Given the description of an element on the screen output the (x, y) to click on. 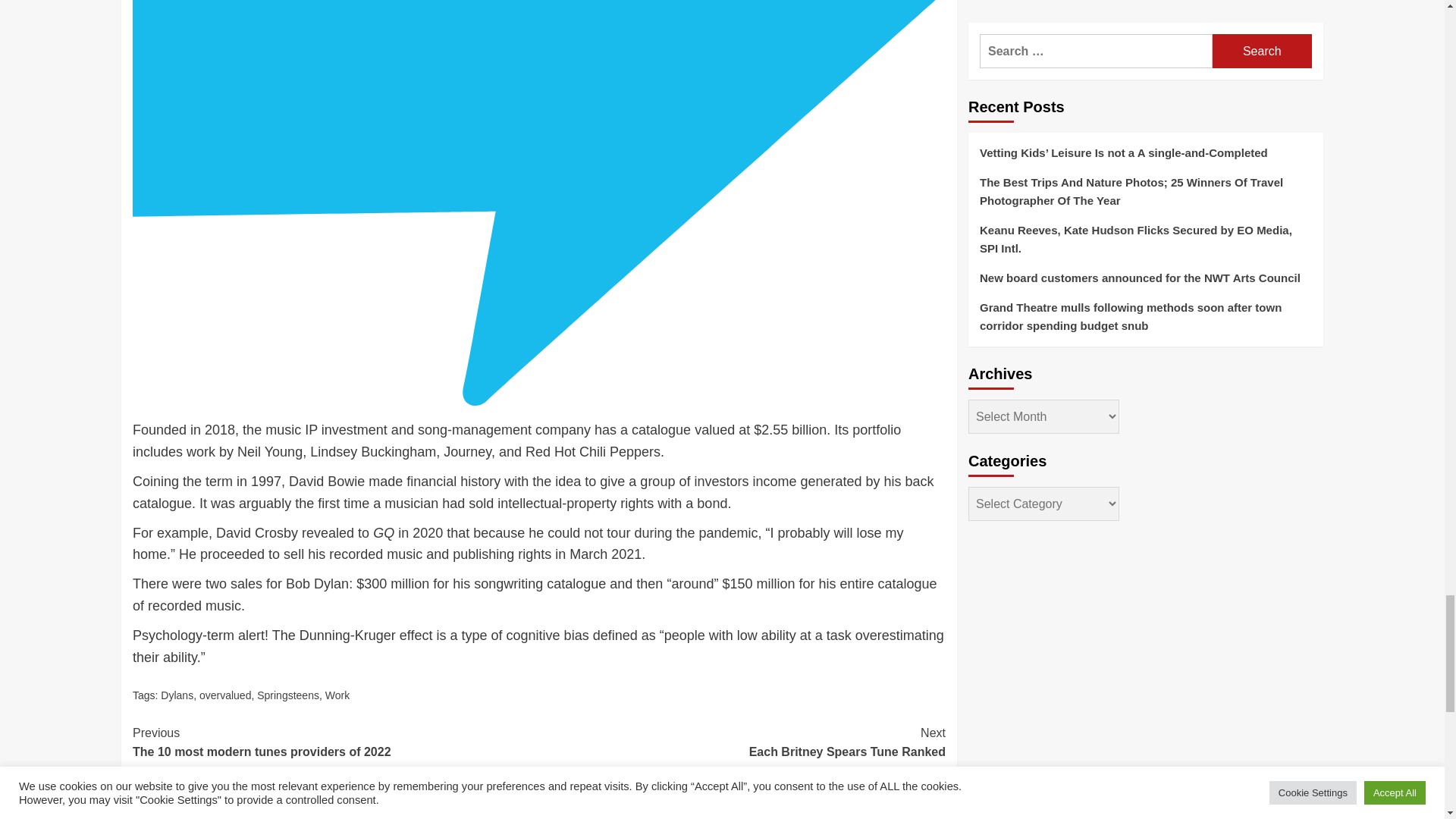
Springsteens (741, 742)
Work (335, 742)
Dylans (287, 695)
overvalued (336, 695)
